Given the description of an element on the screen output the (x, y) to click on. 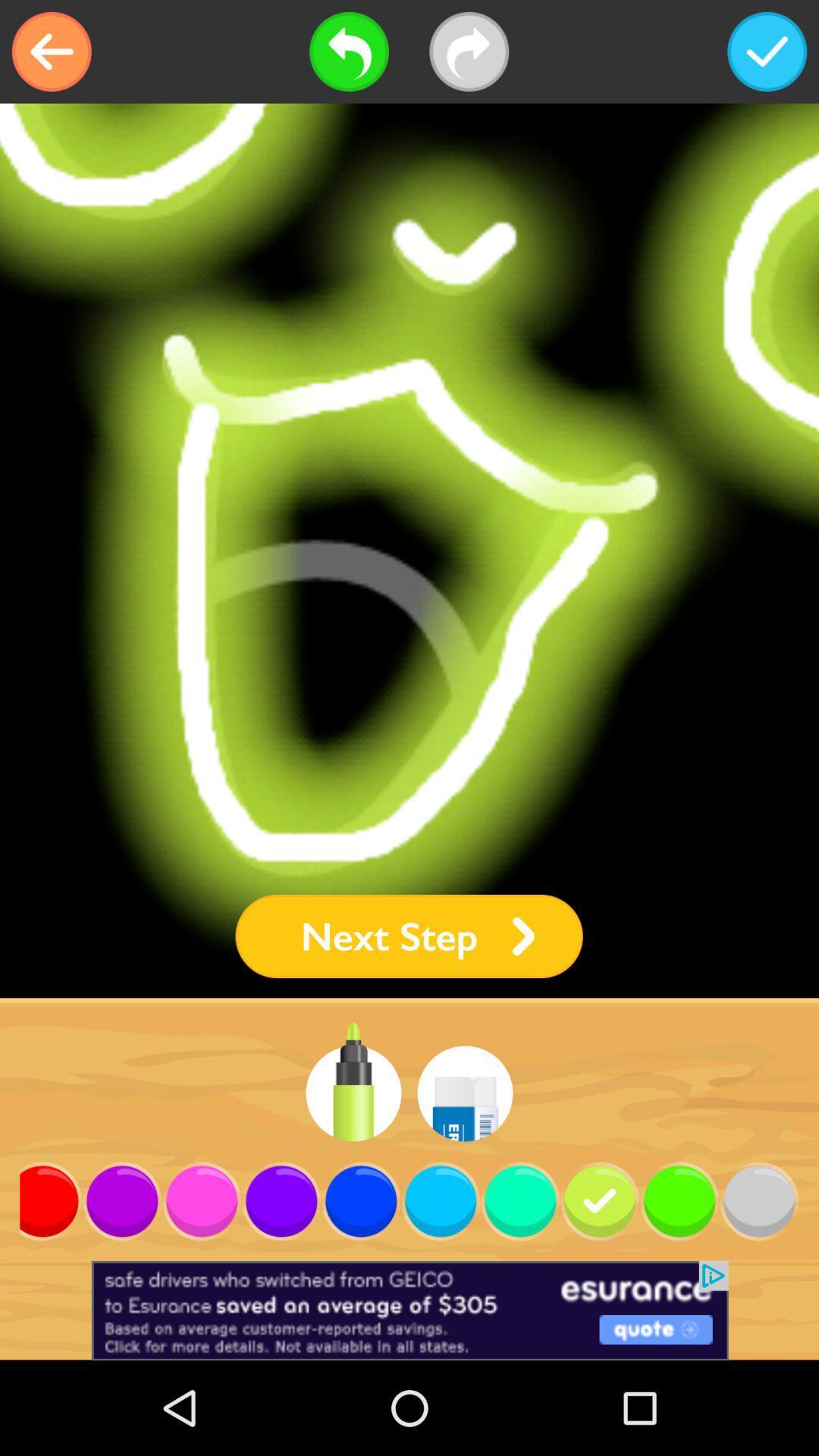
go forward (469, 51)
